Given the description of an element on the screen output the (x, y) to click on. 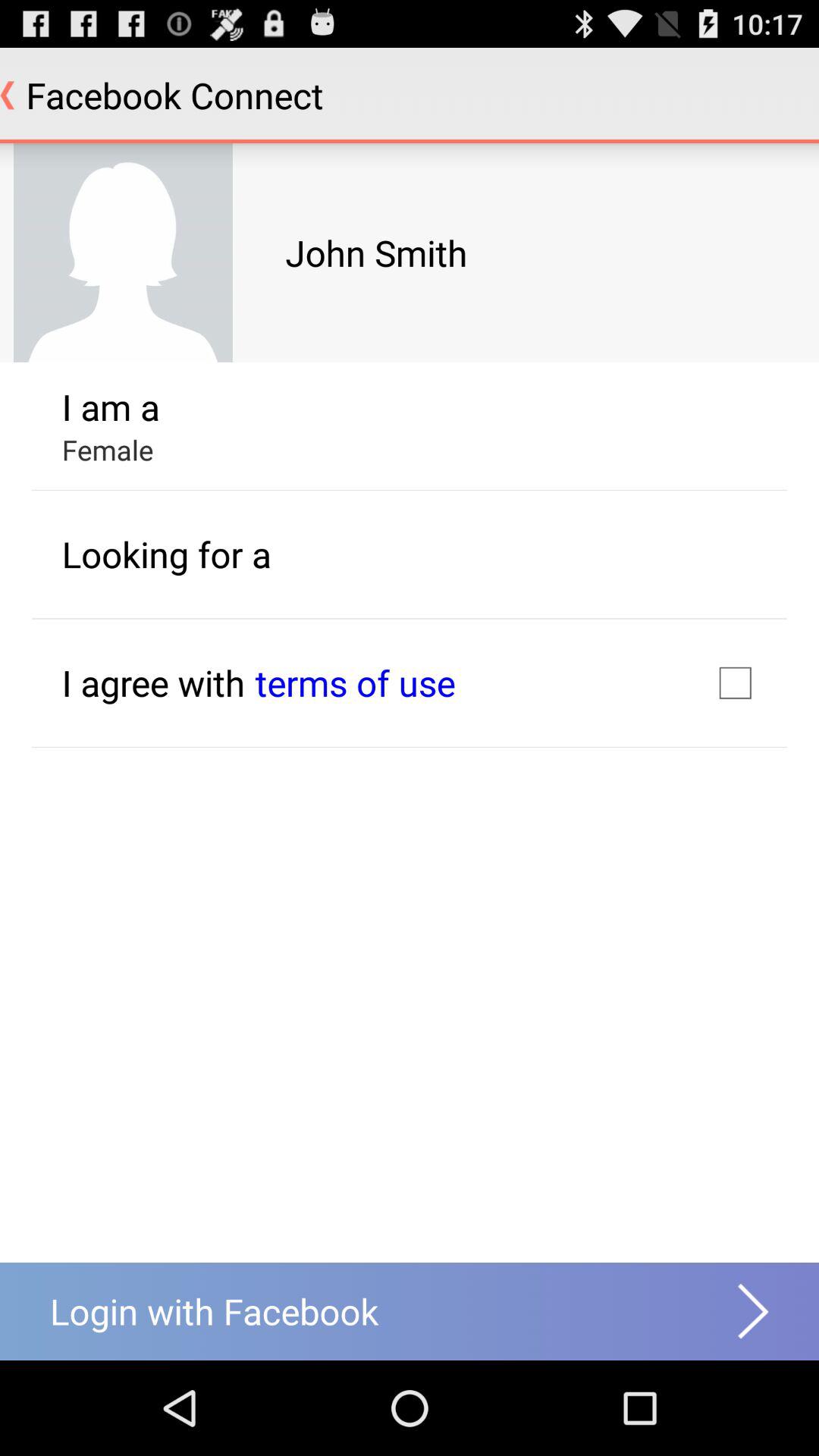
select the item to the right of the terms of use item (735, 682)
